Given the description of an element on the screen output the (x, y) to click on. 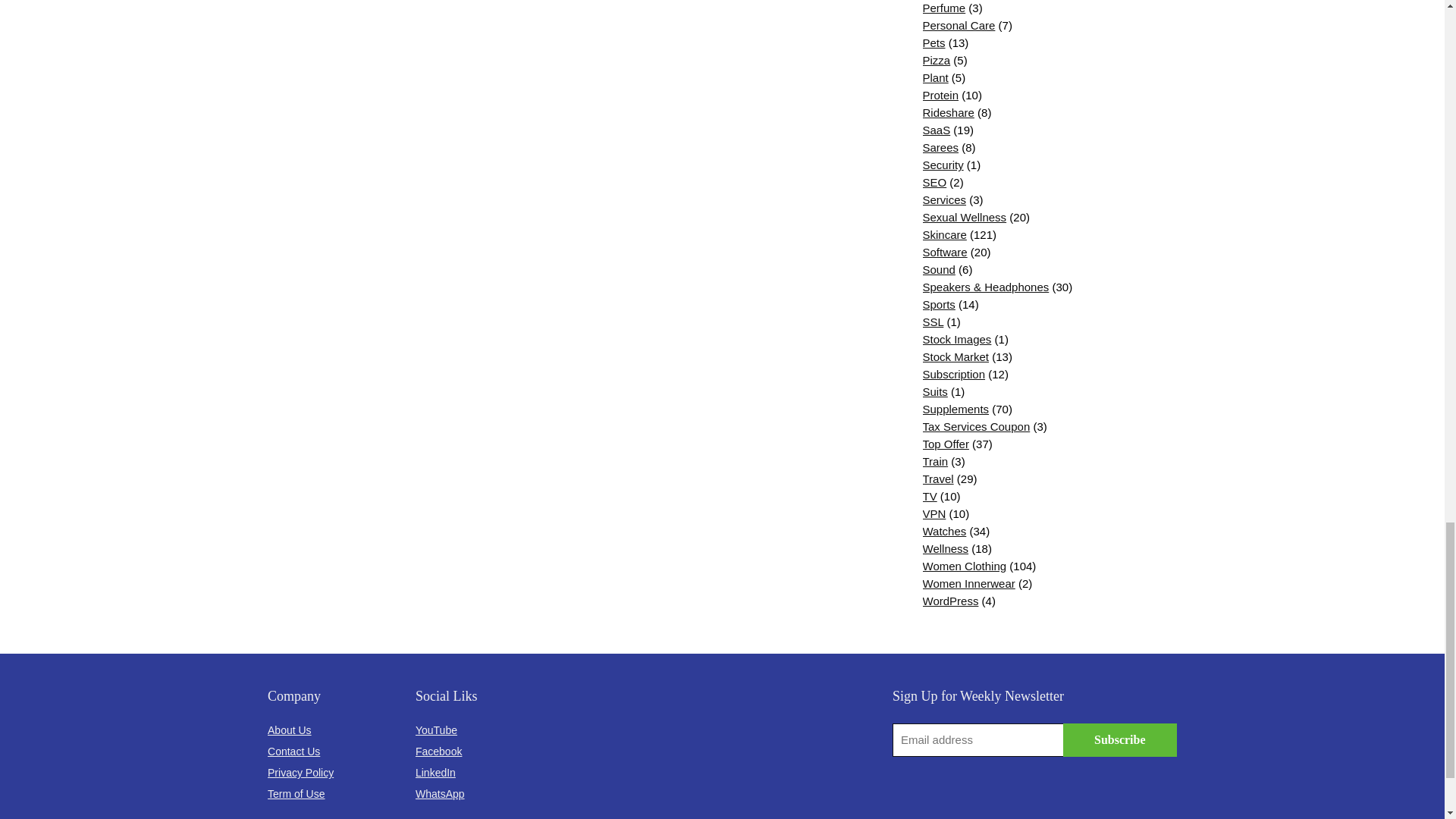
Subscribe (1119, 739)
